Given the description of an element on the screen output the (x, y) to click on. 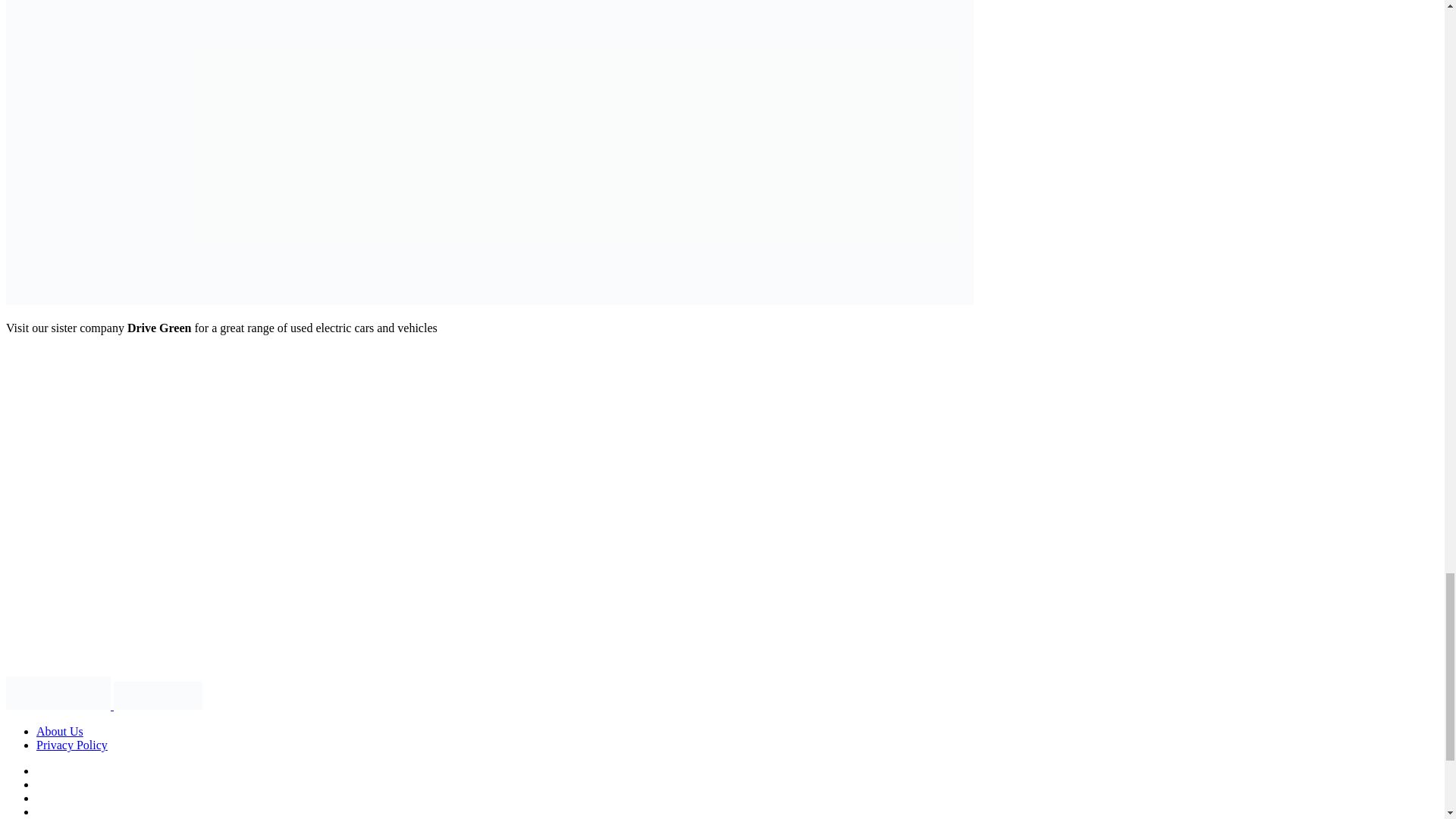
Completely Green (103, 705)
